Given the description of an element on the screen output the (x, y) to click on. 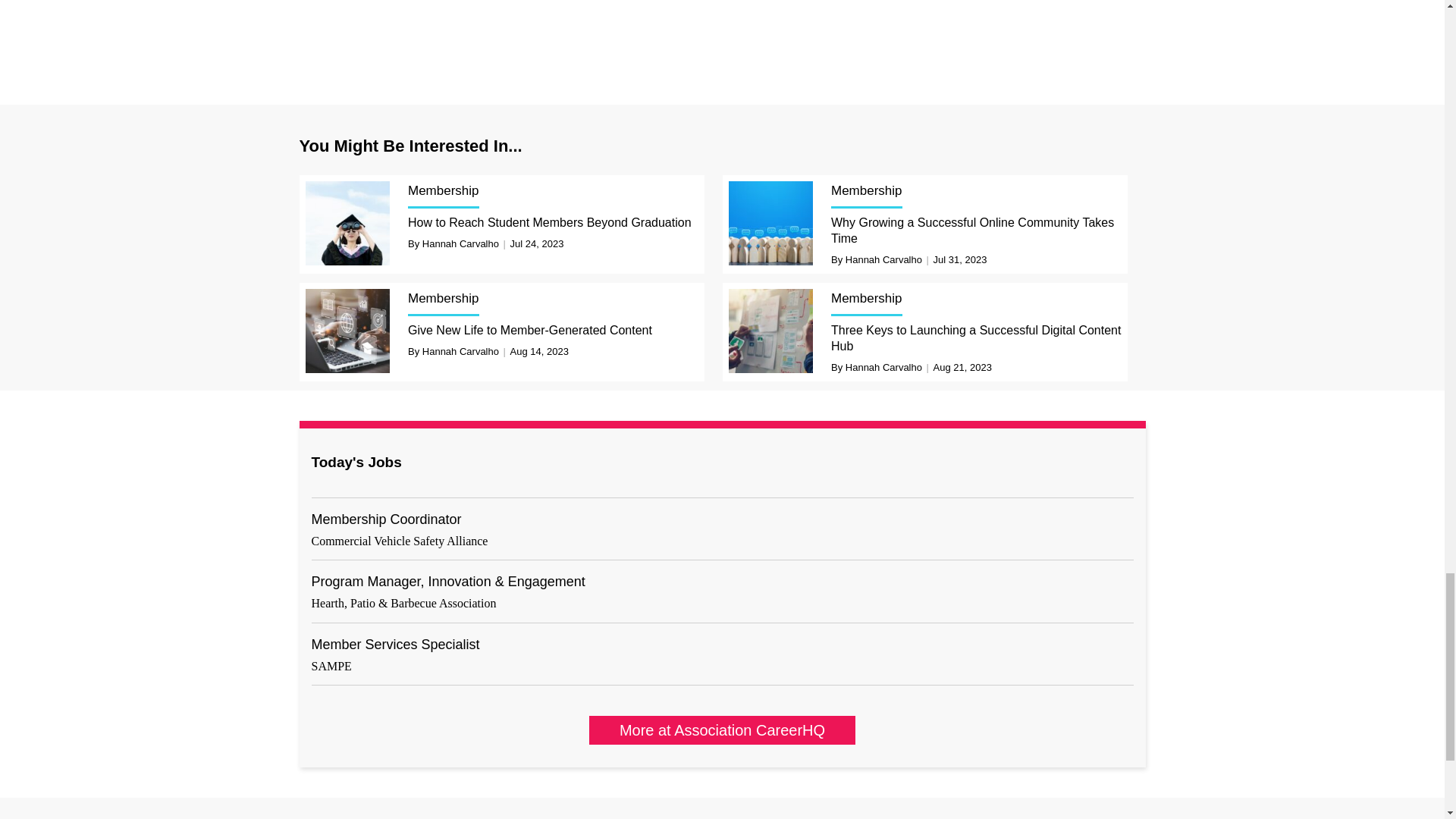
3rd party ad content (722, 30)
